Given the description of an element on the screen output the (x, y) to click on. 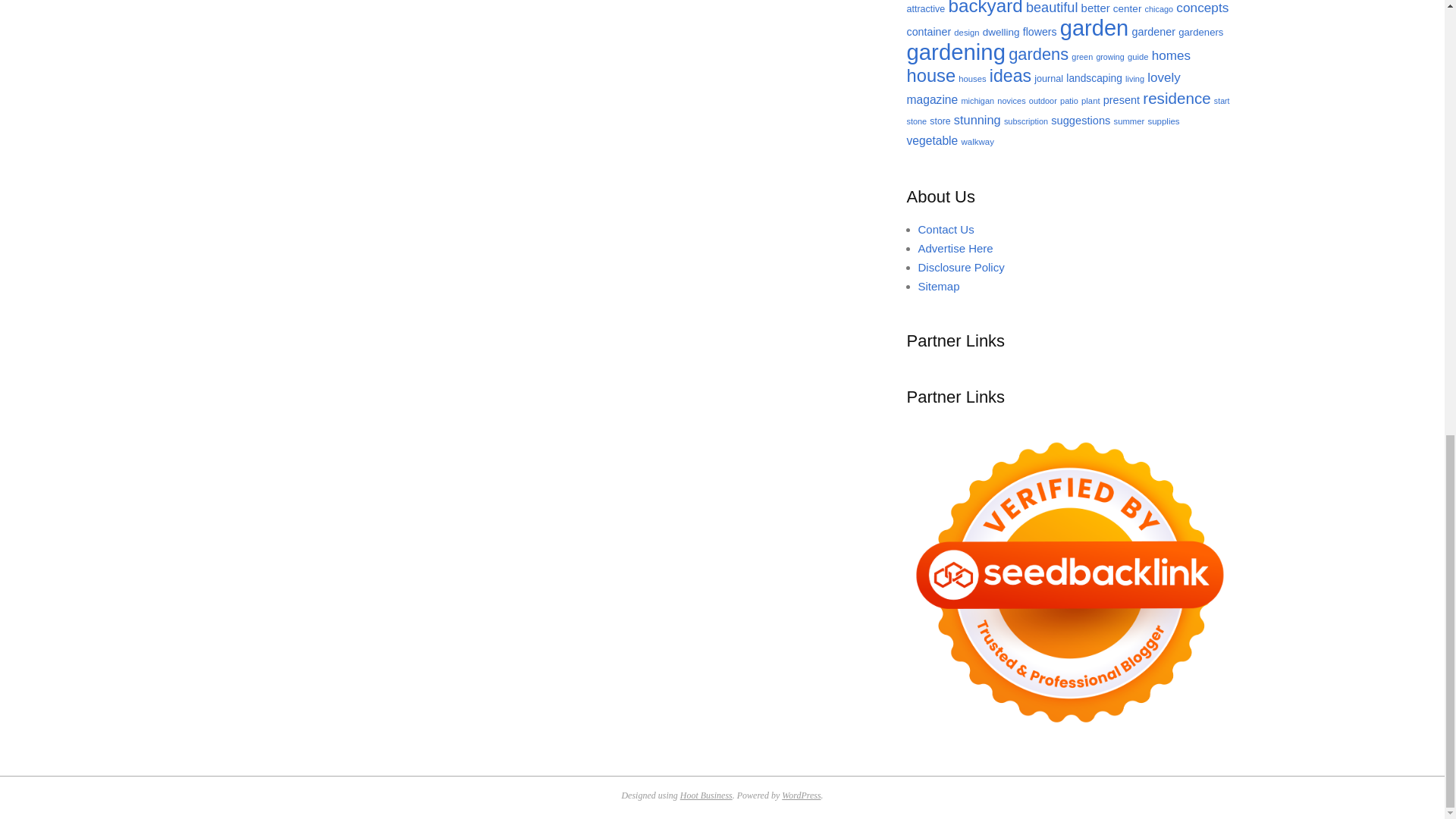
Hoot Business WordPress Theme (705, 795)
Seedbacklink (1070, 582)
